Given the description of an element on the screen output the (x, y) to click on. 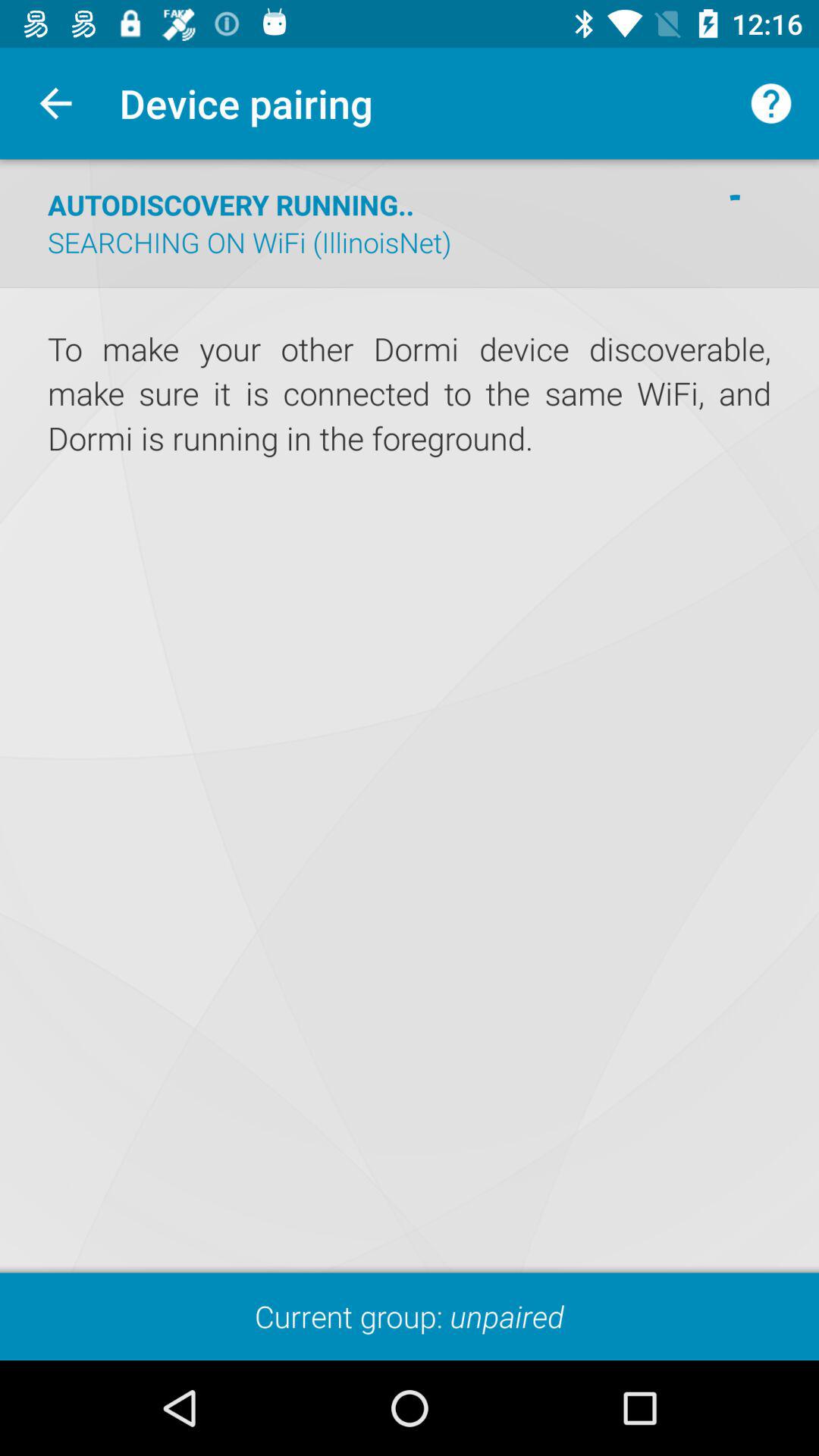
press searching on wifi icon (249, 242)
